Given the description of an element on the screen output the (x, y) to click on. 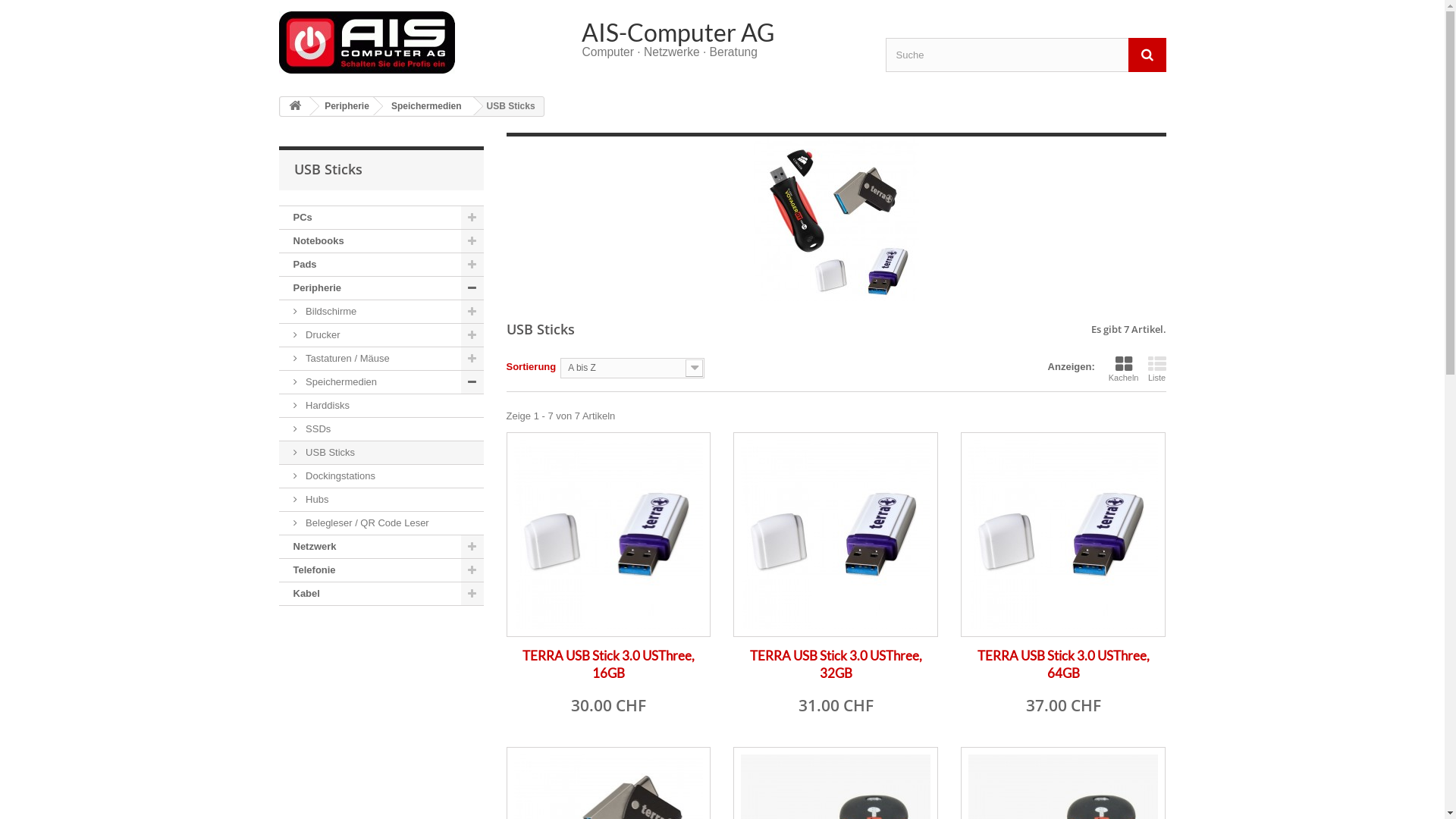
Speichermedien Element type: text (423, 106)
Peripherie Element type: text (381, 288)
TERRA USB Stick 3.0 USThree, 32GB Element type: hover (835, 534)
Kacheln Element type: text (1123, 368)
TERRA USB Stick 3.0 USThree, 32GB Element type: text (835, 663)
Speichermedien Element type: text (381, 382)
PCs Element type: text (381, 217)
Notebooks Element type: text (381, 241)
TERRA USB Stick 3.0 USThree, 16GB Element type: text (608, 663)
AIS Computer Onlineshop Element type: hover (419, 42)
Netzwerk Element type: text (381, 546)
TERRA USB Stick 3.0 USThree, 64GB Element type: hover (1062, 534)
Liste Element type: text (1157, 368)
Belegleser / QR Code Leser Element type: text (381, 523)
Drucker Element type: text (381, 335)
Pads Element type: text (381, 264)
USB Sticks Element type: text (381, 452)
Dockingstations Element type: text (381, 476)
Peripherie Element type: text (343, 106)
TERRA USB Stick 3.0 USThree, 64GB Element type: text (1063, 663)
Kabel Element type: text (381, 593)
Hubs Element type: text (381, 499)
Bildschirme Element type: text (381, 311)
SSDs Element type: text (381, 429)
TERRA USB Stick 3.0 USThree, 16GB Element type: hover (608, 534)
Harddisks Element type: text (381, 405)
Telefonie Element type: text (381, 570)
